Given the description of an element on the screen output the (x, y) to click on. 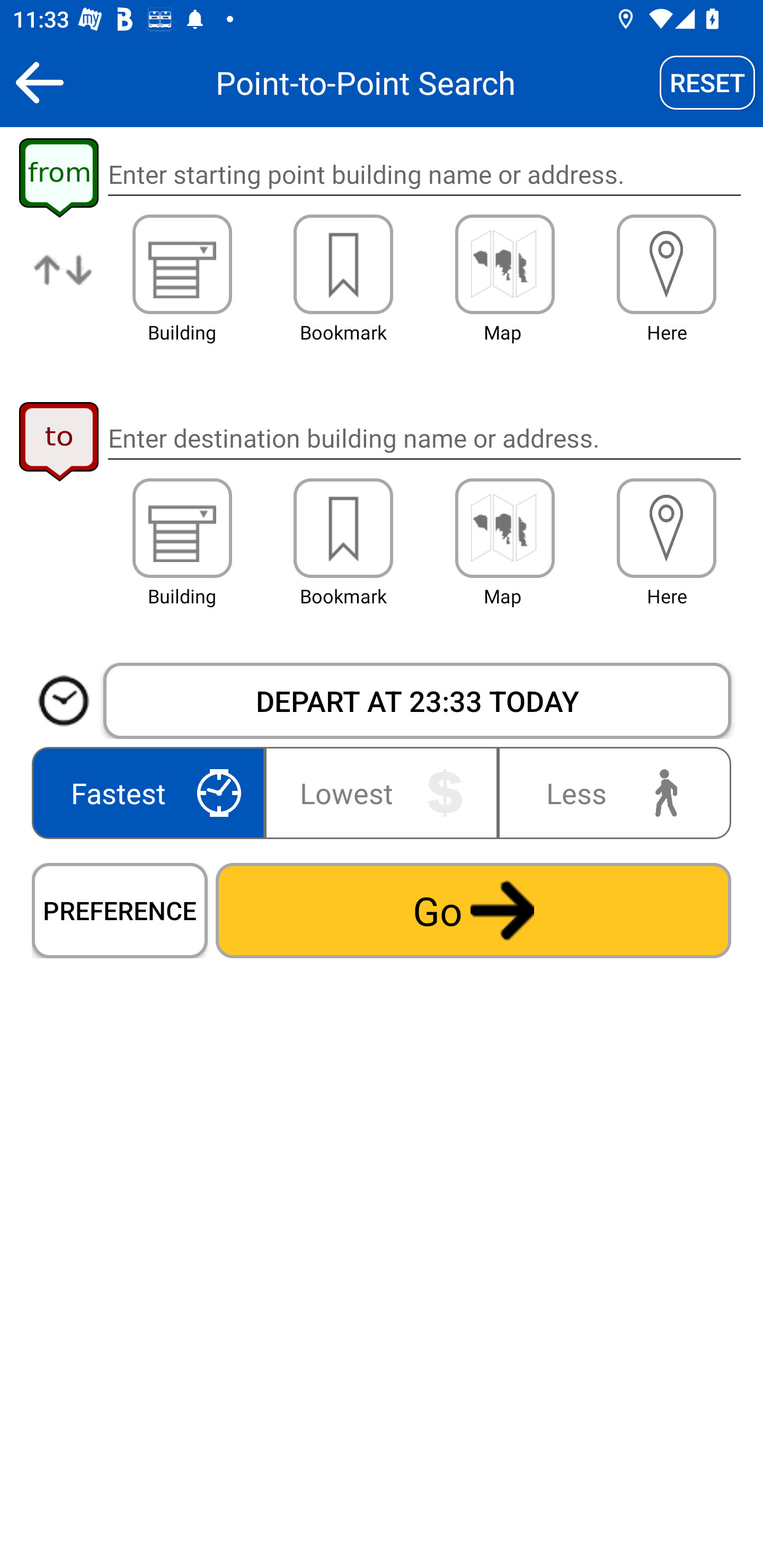
Back (39, 82)
RESET Reset (707, 81)
Enter starting point building name or address. (423, 174)
Building (181, 263)
Bookmarks (342, 263)
Select location on map (504, 263)
Here (666, 263)
Swap origin and destination (63, 284)
Enter destination building name or address. (423, 437)
Building (181, 528)
Bookmarks (342, 528)
Select location on map (504, 528)
Here (666, 528)
Lowest (381, 792)
Fastest selected (151, 792)
Less (610, 792)
PREFERENCE Preference (119, 910)
Go (472, 910)
